Given the description of an element on the screen output the (x, y) to click on. 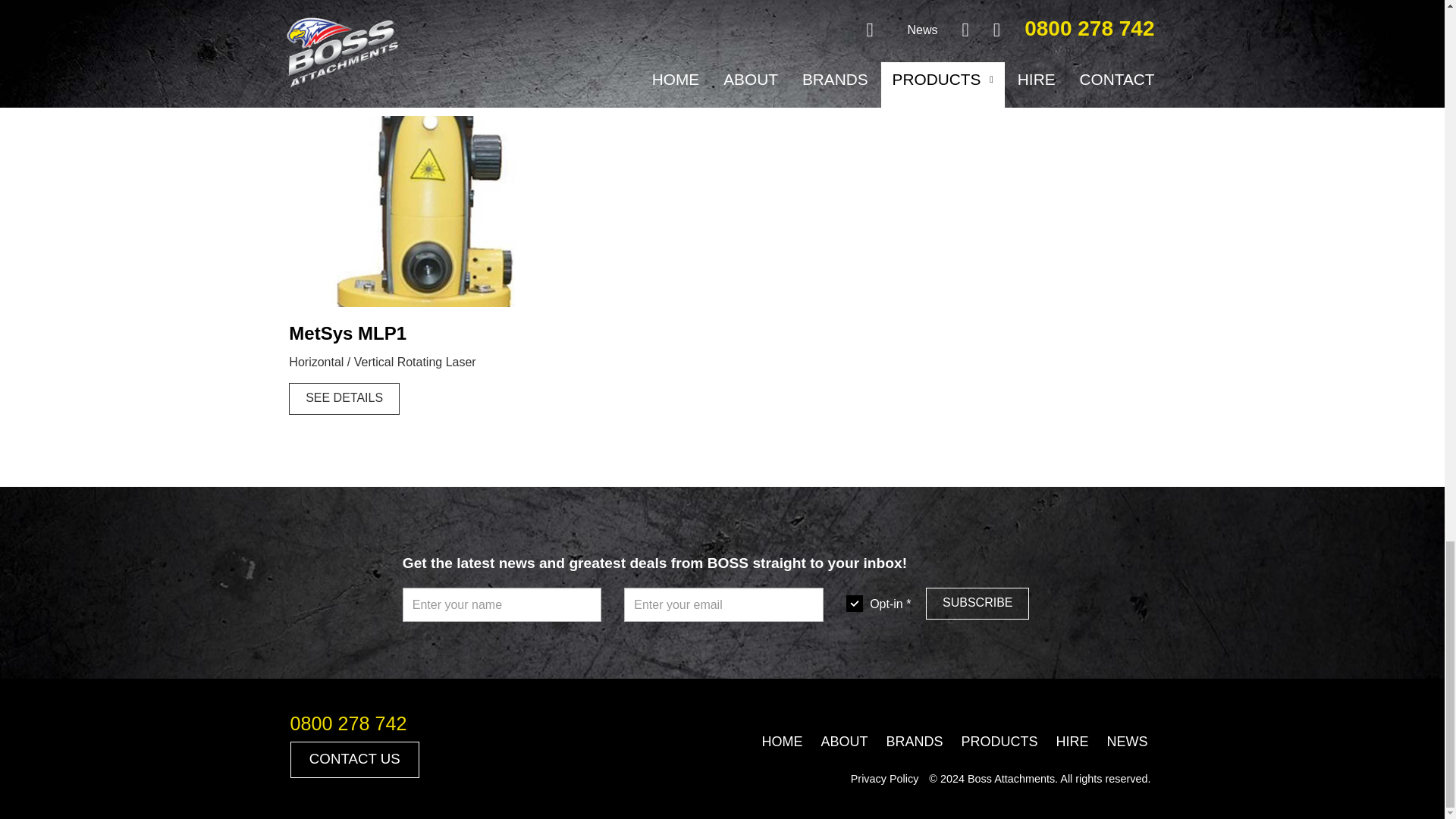
MetSys MLP1 (343, 398)
MetSys RL30 Dual Grade (934, 62)
MetSys RL30H (343, 50)
